Given the description of an element on the screen output the (x, y) to click on. 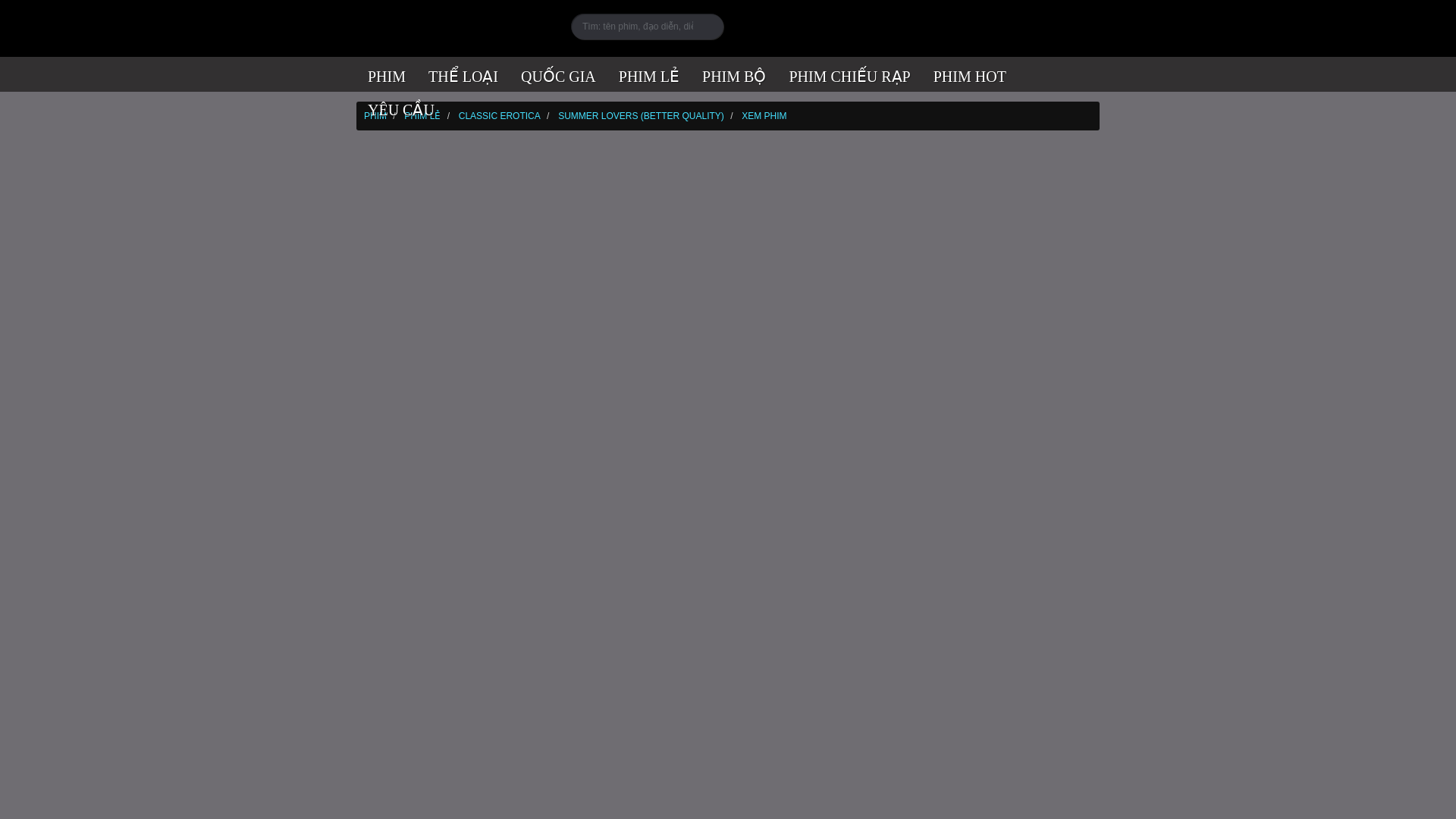
Rare and Selected Movies from All Genres Free Download (386, 74)
Phim, Xem Phim (452, 28)
PHIM (386, 74)
